Given the description of an element on the screen output the (x, y) to click on. 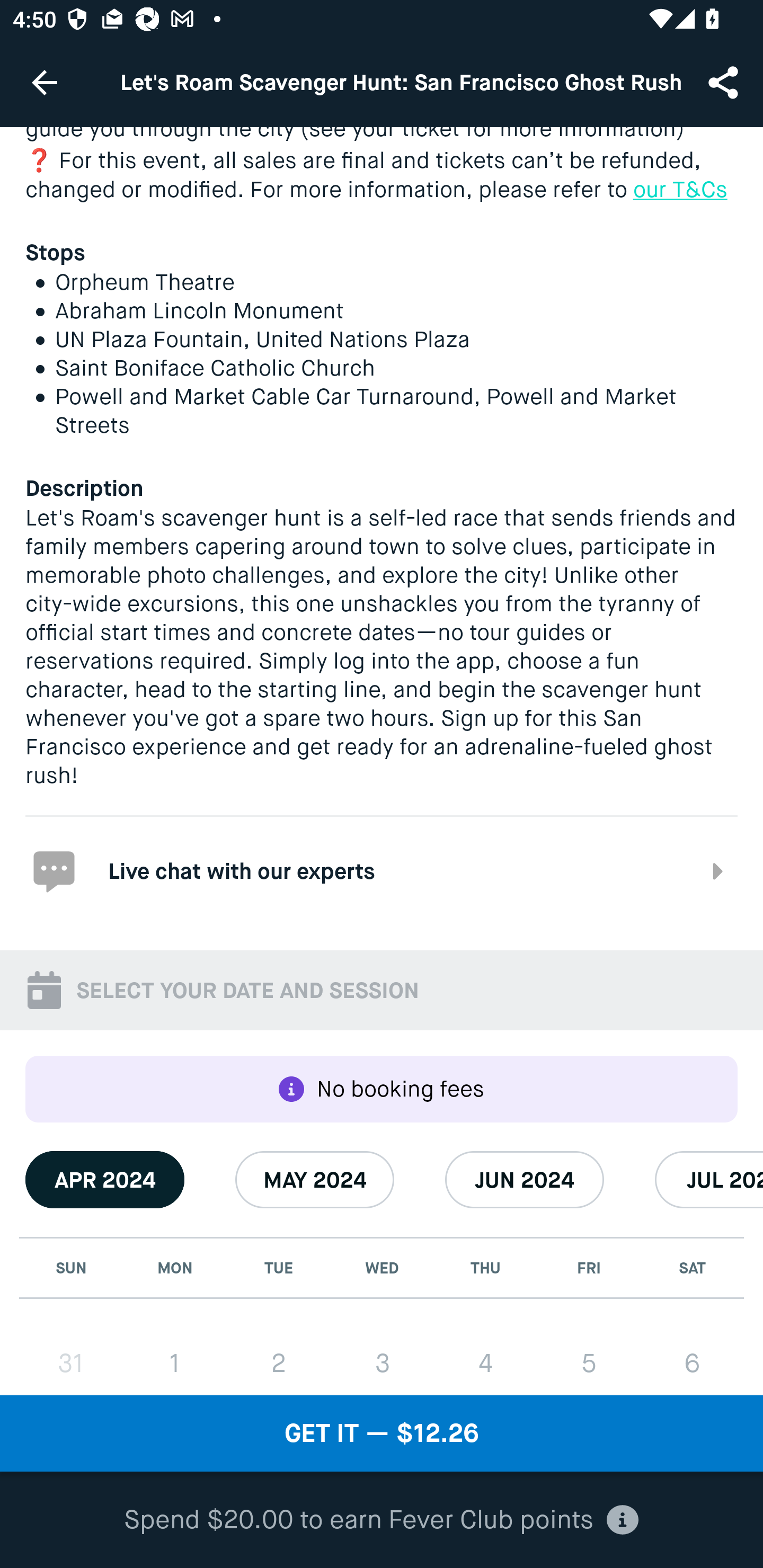
Navigate up (44, 82)
Share (724, 81)
Live chat with our experts (381, 870)
APR 2024 (104, 1179)
MAY 2024 (314, 1179)
JUN 2024 (524, 1179)
JUL 2024 (708, 1179)
31 (70, 1356)
1 (174, 1356)
2 (278, 1356)
3 (382, 1356)
4 (485, 1356)
5 (588, 1356)
6 (692, 1356)
GET IT — $12.26 (381, 1433)
Spend $20.00 to earn Fever Club points (381, 1519)
